Given the description of an element on the screen output the (x, y) to click on. 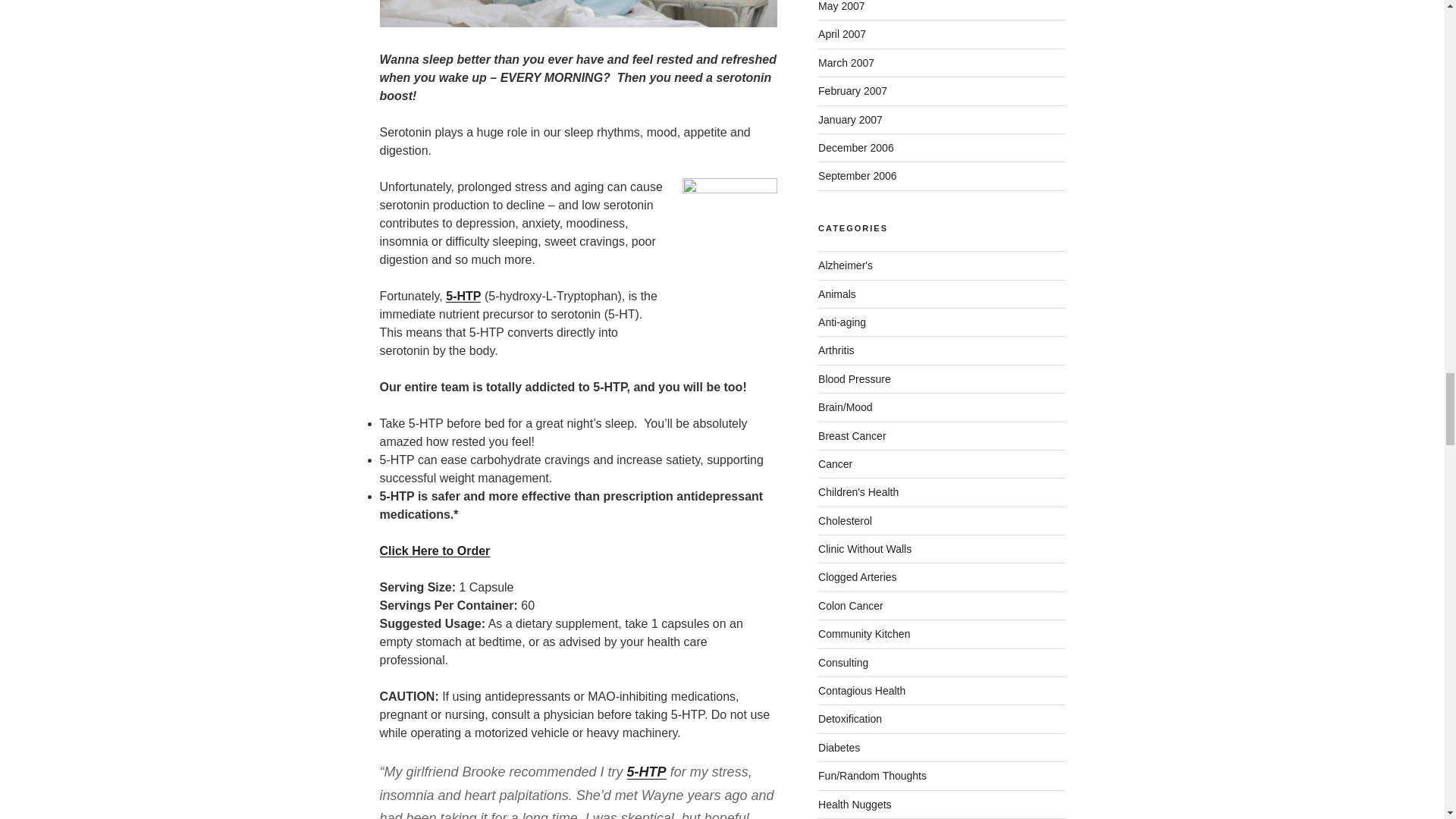
5-HTP (462, 295)
5-HTP (646, 771)
Click Here to Order (433, 550)
